Given the description of an element on the screen output the (x, y) to click on. 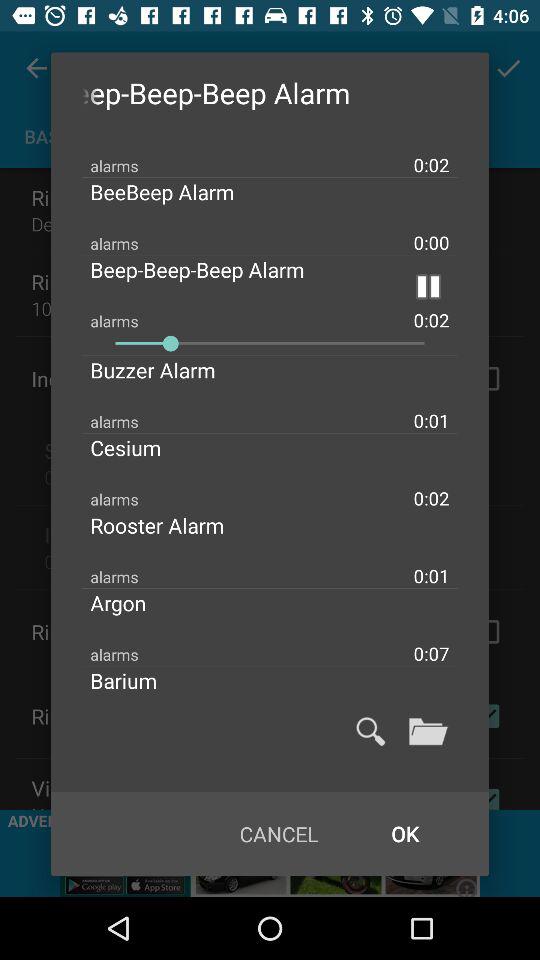
click button to pause alarm (428, 286)
